Given the description of an element on the screen output the (x, y) to click on. 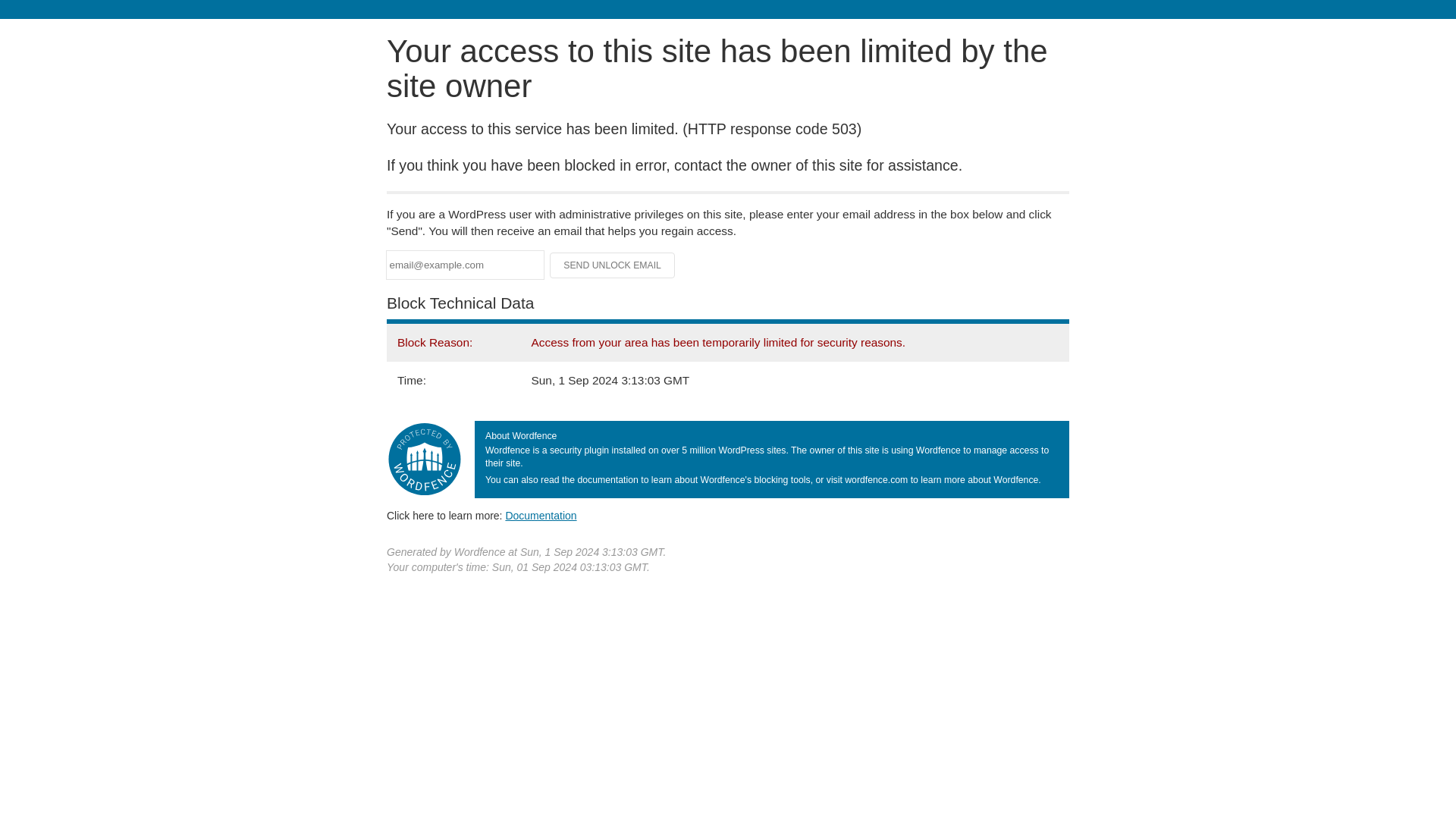
Send Unlock Email (612, 265)
Send Unlock Email (612, 265)
Documentation (540, 515)
